Given the description of an element on the screen output the (x, y) to click on. 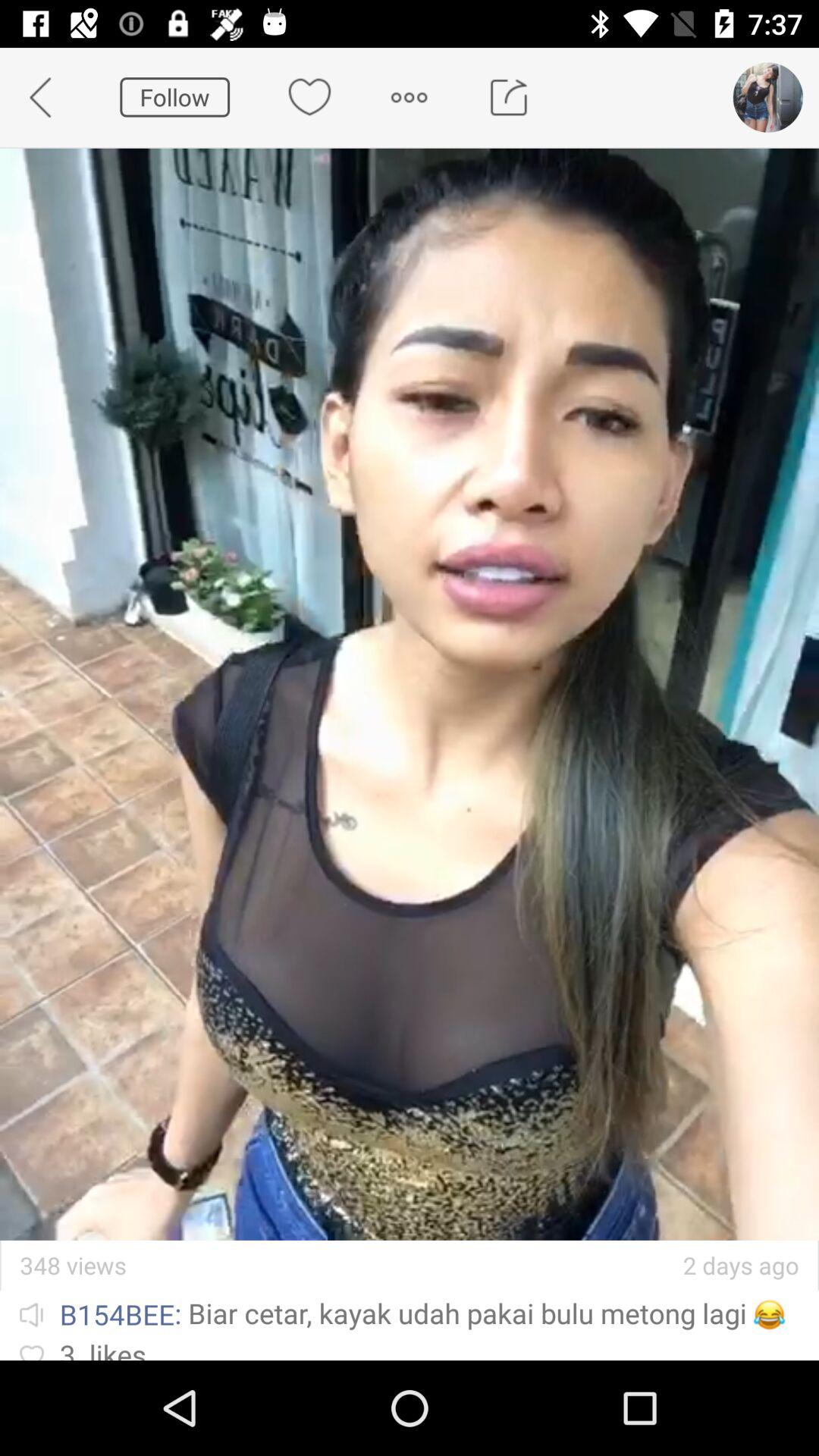
open ib154bee biar cetar item (409, 1313)
